Given the description of an element on the screen output the (x, y) to click on. 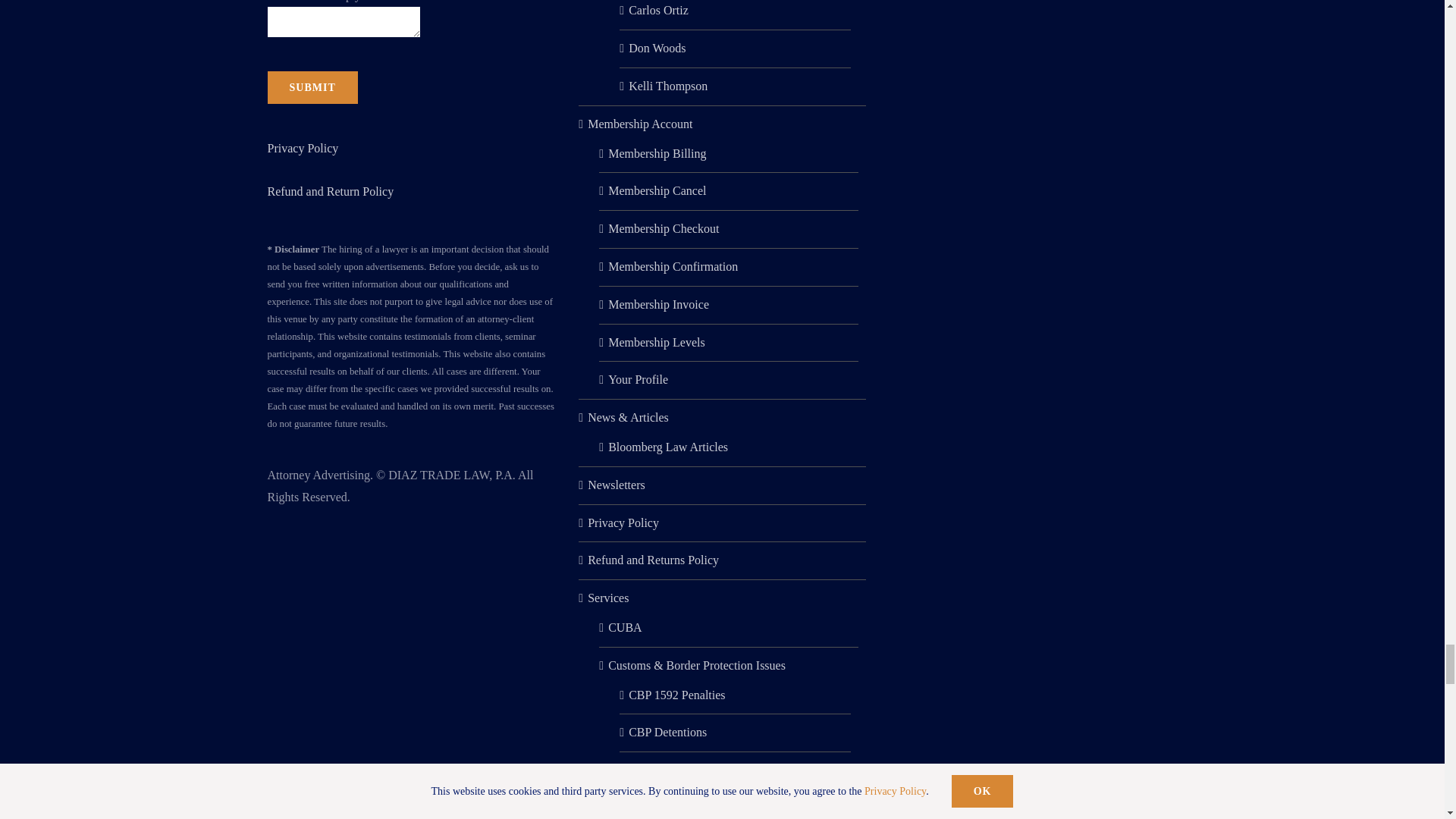
Submit (311, 87)
